Given the description of an element on the screen output the (x, y) to click on. 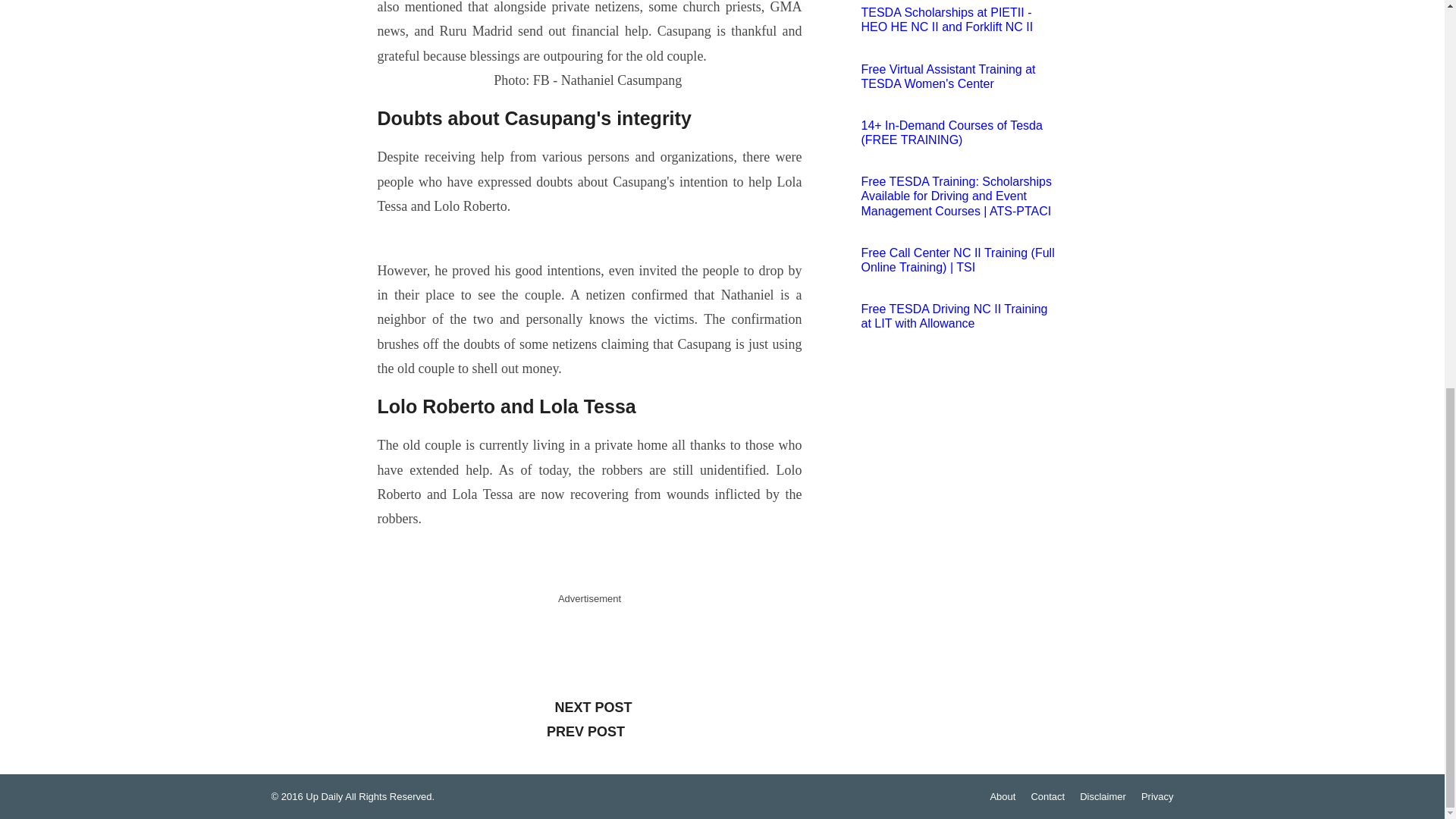
Contact (1047, 796)
NEXT POST (589, 708)
Up Daily (323, 796)
About (1002, 796)
Disclaimer (1102, 796)
PREV POST (589, 732)
Newer Post (589, 708)
Older Post (589, 732)
Privacy Policy (1157, 796)
